Given the description of an element on the screen output the (x, y) to click on. 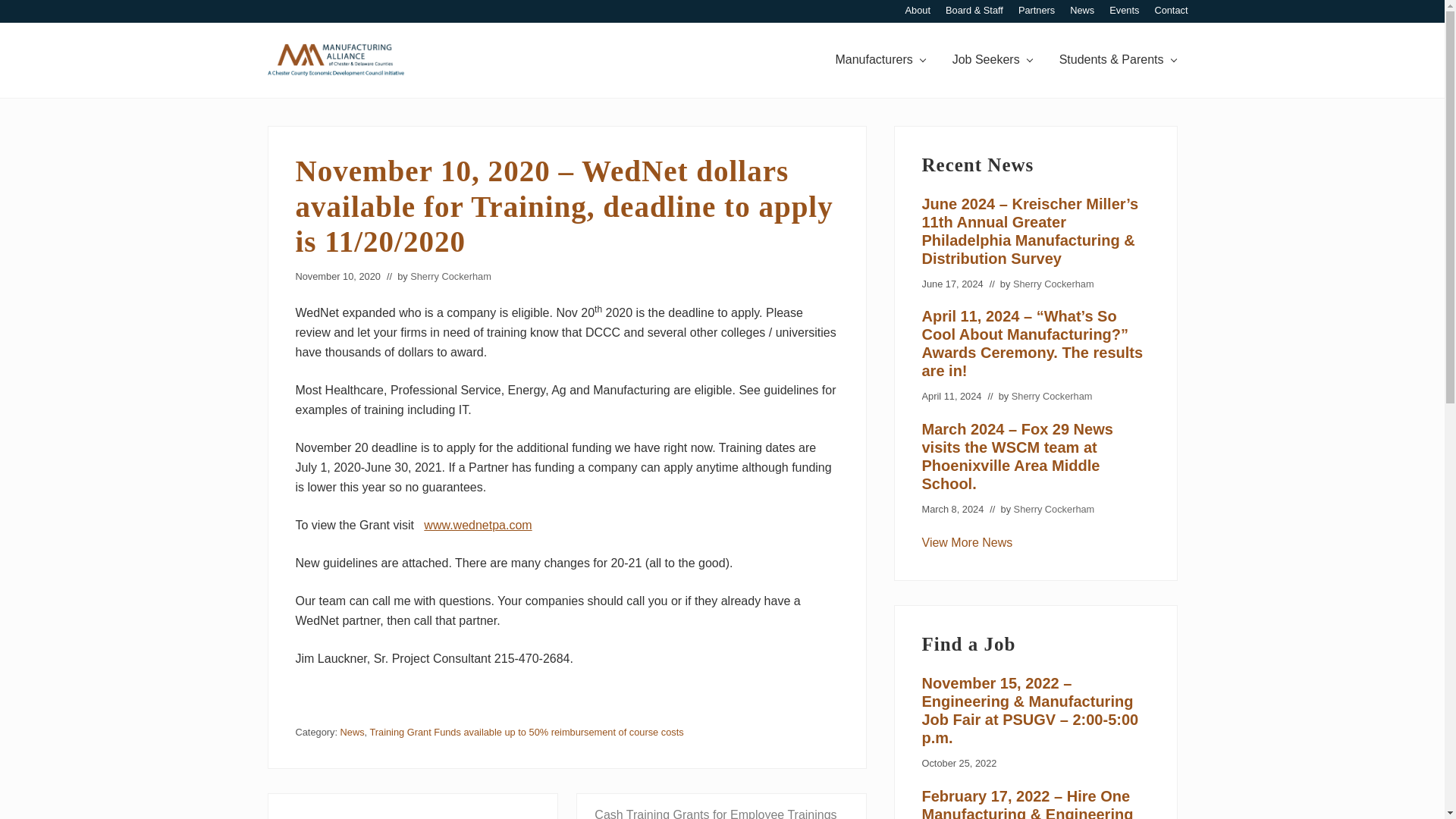
News (967, 542)
About (917, 11)
News (1082, 11)
Job Seekers (991, 59)
Contact (1171, 11)
Events (1124, 11)
Manufacturers (879, 59)
Partners (1036, 11)
